Given the description of an element on the screen output the (x, y) to click on. 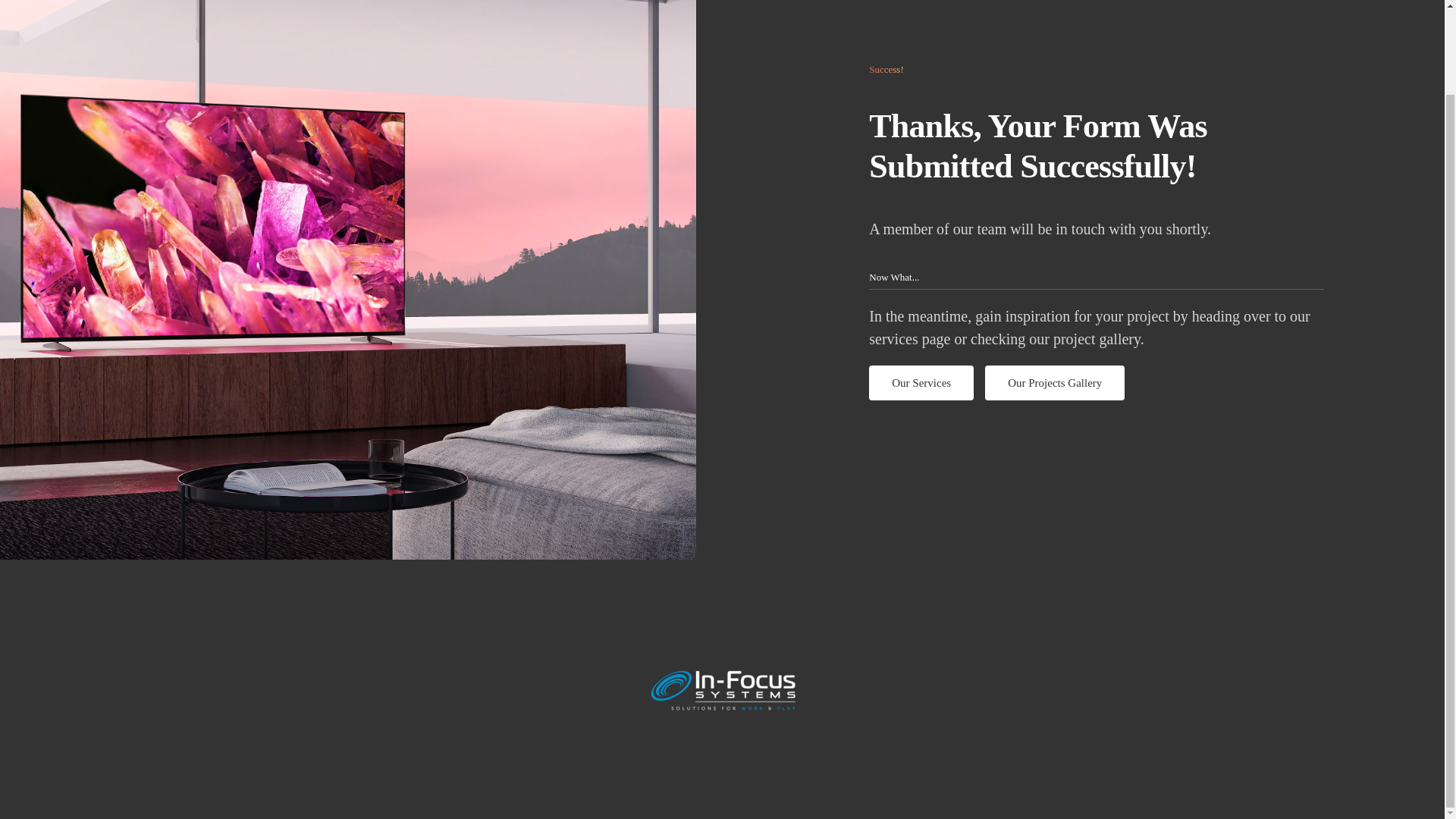
A member of our team will be in touch with you shortly. (1096, 228)
Our Services (1096, 382)
Success! (921, 382)
Our Projects Gallery (1096, 69)
Thanks, Your Form Was Submitted Successfully! (1054, 382)
Now What... (1096, 147)
